Given the description of an element on the screen output the (x, y) to click on. 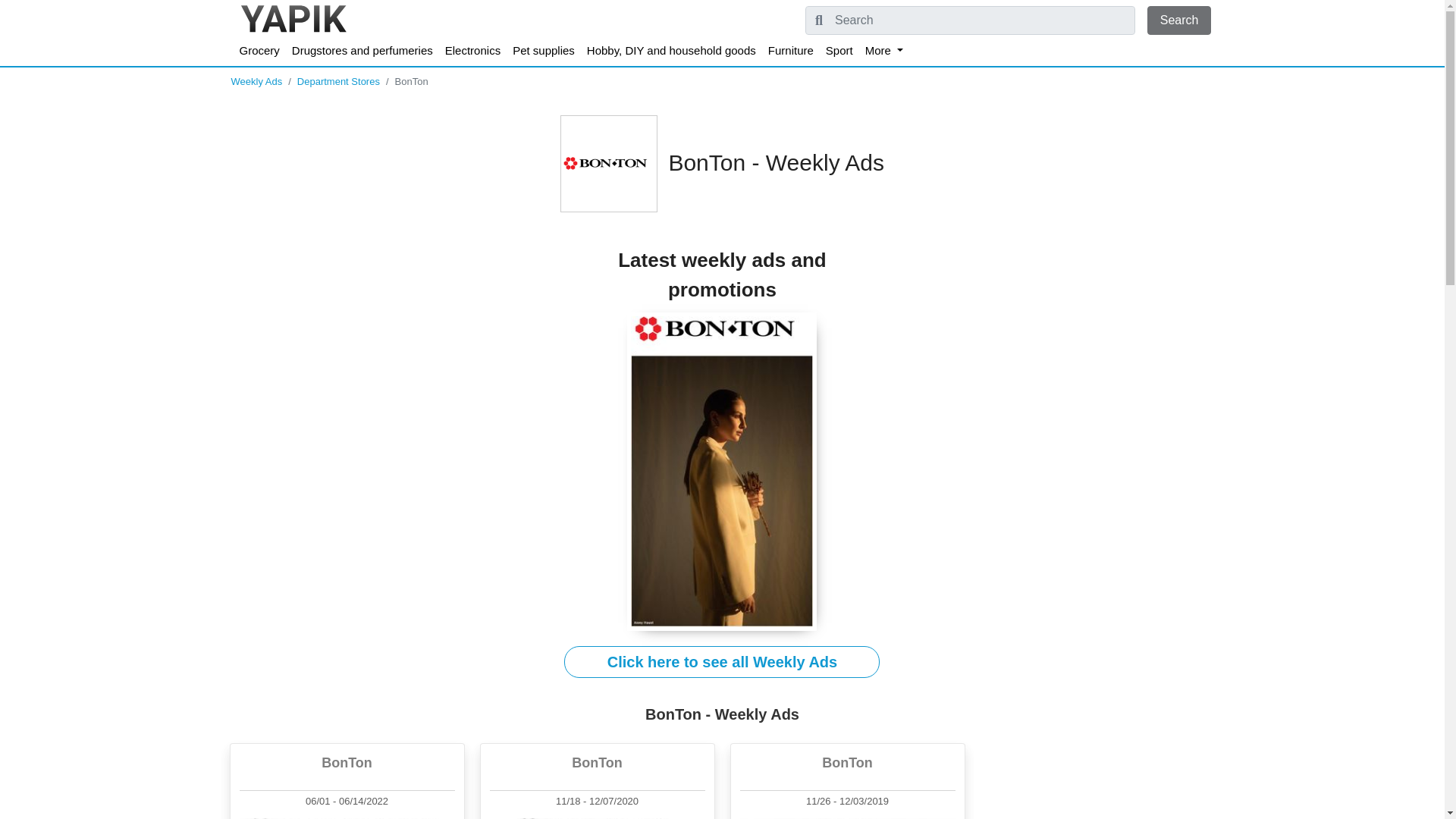
Grocery (258, 51)
Search (1179, 20)
